Given the description of an element on the screen output the (x, y) to click on. 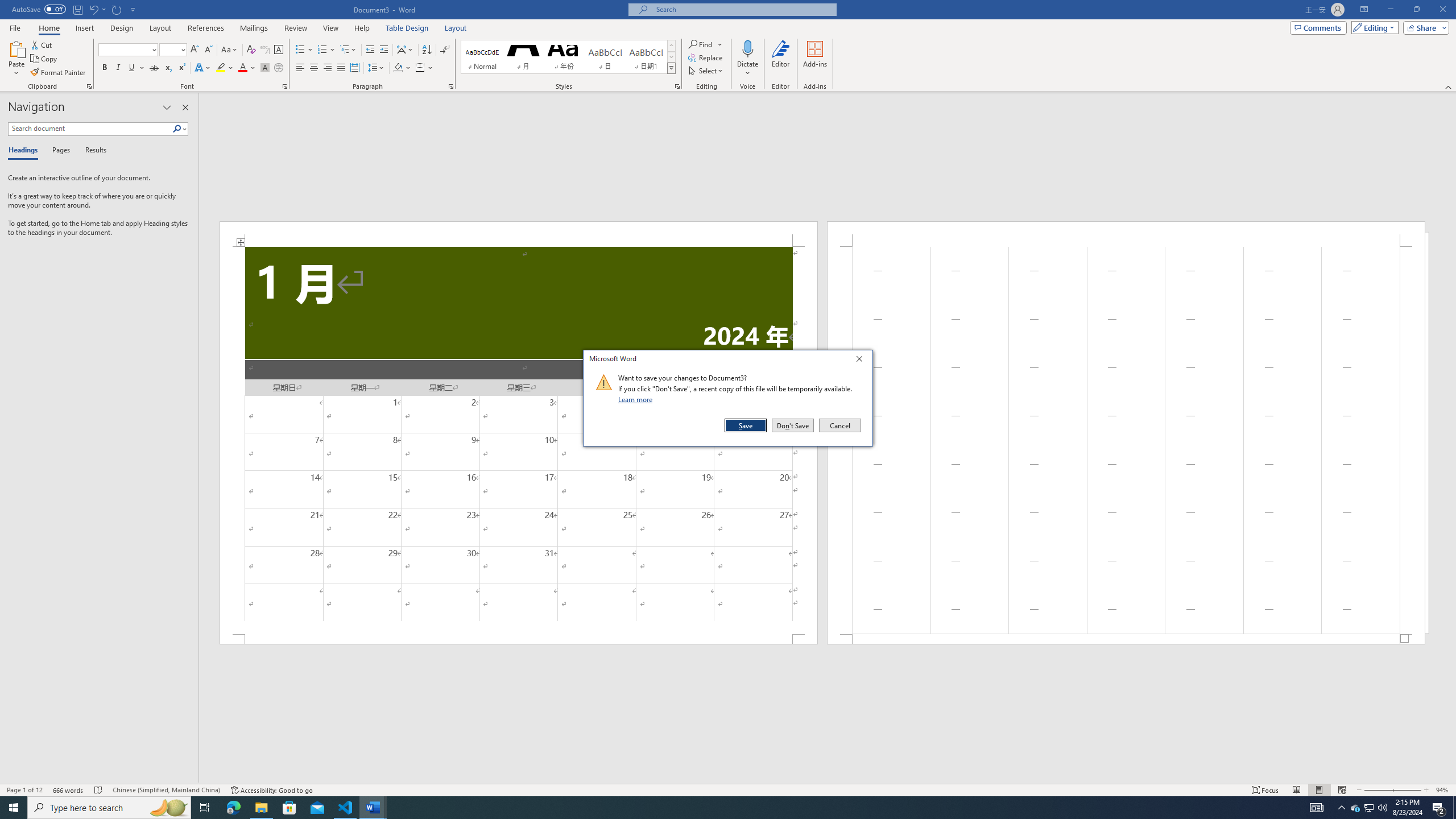
Text Effects and Typography (202, 67)
Sort... (426, 49)
Format Painter (58, 72)
Font... (285, 85)
Change Case (229, 49)
Character Border (278, 49)
User Promoted Notification Area (1368, 807)
Results (91, 150)
